Given the description of an element on the screen output the (x, y) to click on. 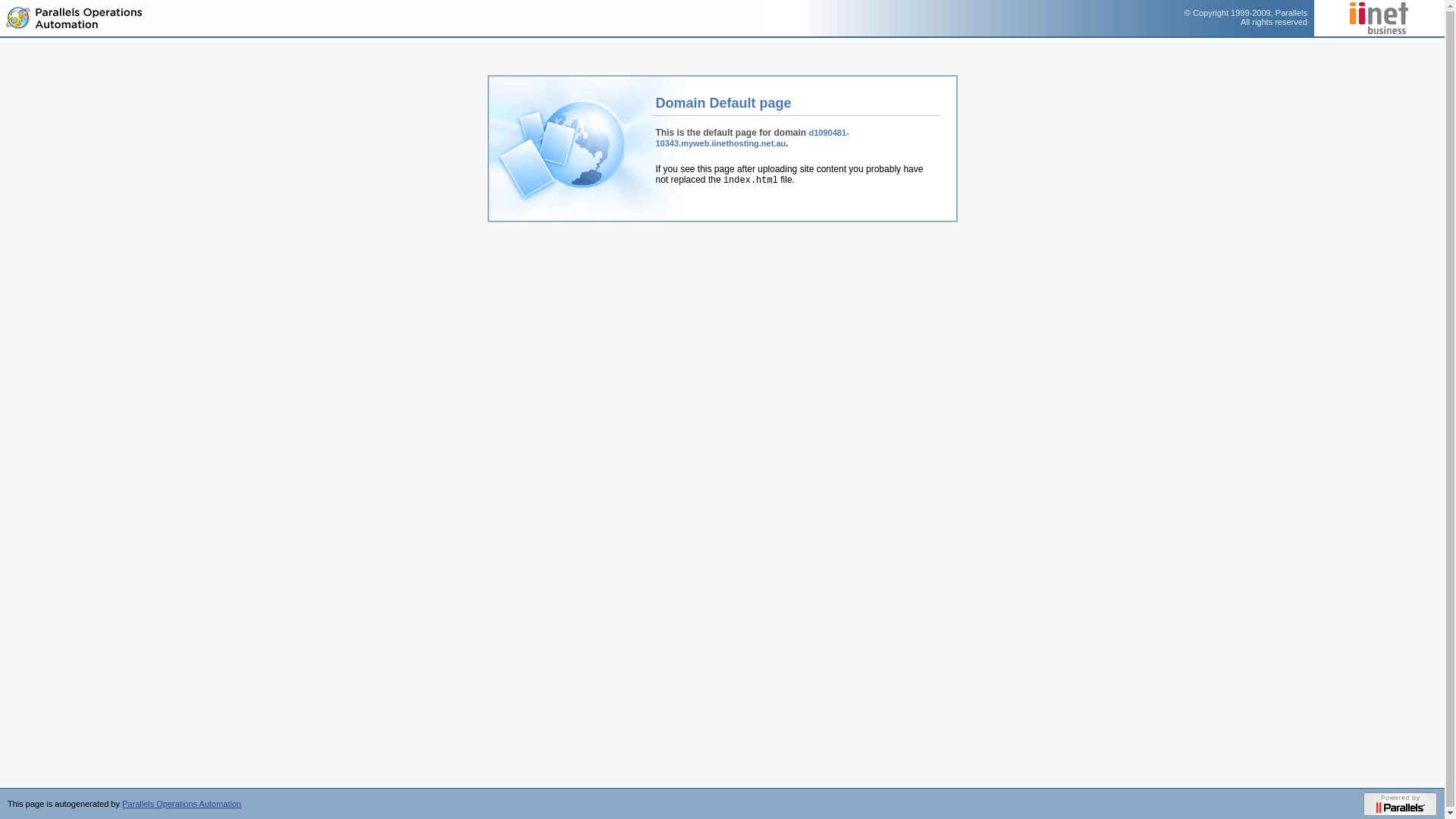
Parallels Operations Automation Element type: text (181, 803)
Powered by Parallels Element type: hover (1400, 803)
iiNet Element type: hover (1379, 18)
Parallels Operations Automation Element type: text (75, 18)
